Given the description of an element on the screen output the (x, y) to click on. 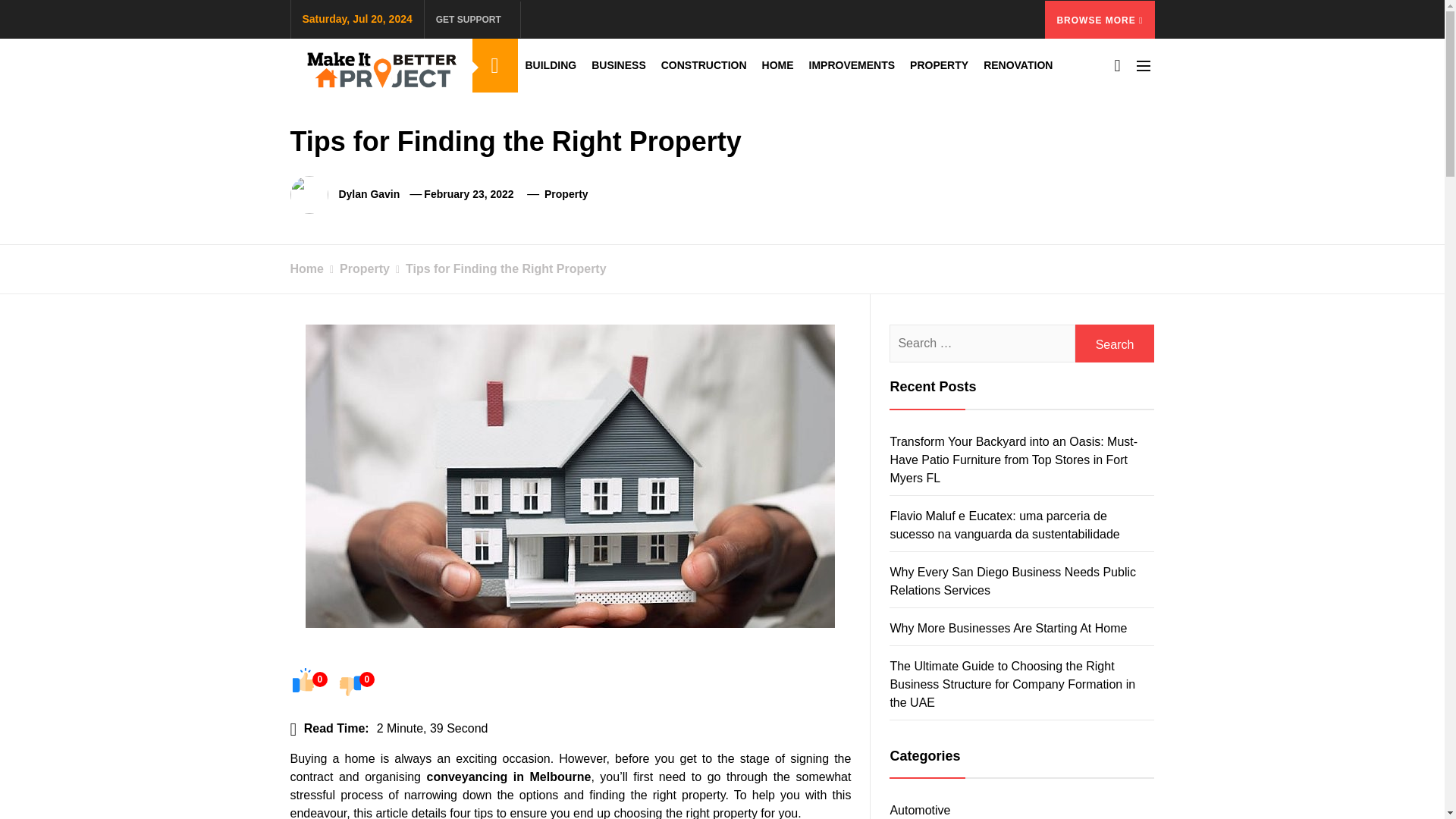
CONSTRUCTION (703, 65)
conveyancing in Melbourne (508, 776)
IMPROVEMENTS (852, 65)
GET SUPPORT (471, 18)
BROWSE MORE (1099, 18)
BUSINESS (618, 65)
Search (1114, 343)
Property (566, 193)
PROPERTY (938, 65)
Search (1114, 343)
BUILDING (549, 65)
RENOVATION (1017, 65)
Tips for Finding the Right Property (498, 268)
Dylan Gavin (367, 193)
Home (306, 268)
